Given the description of an element on the screen output the (x, y) to click on. 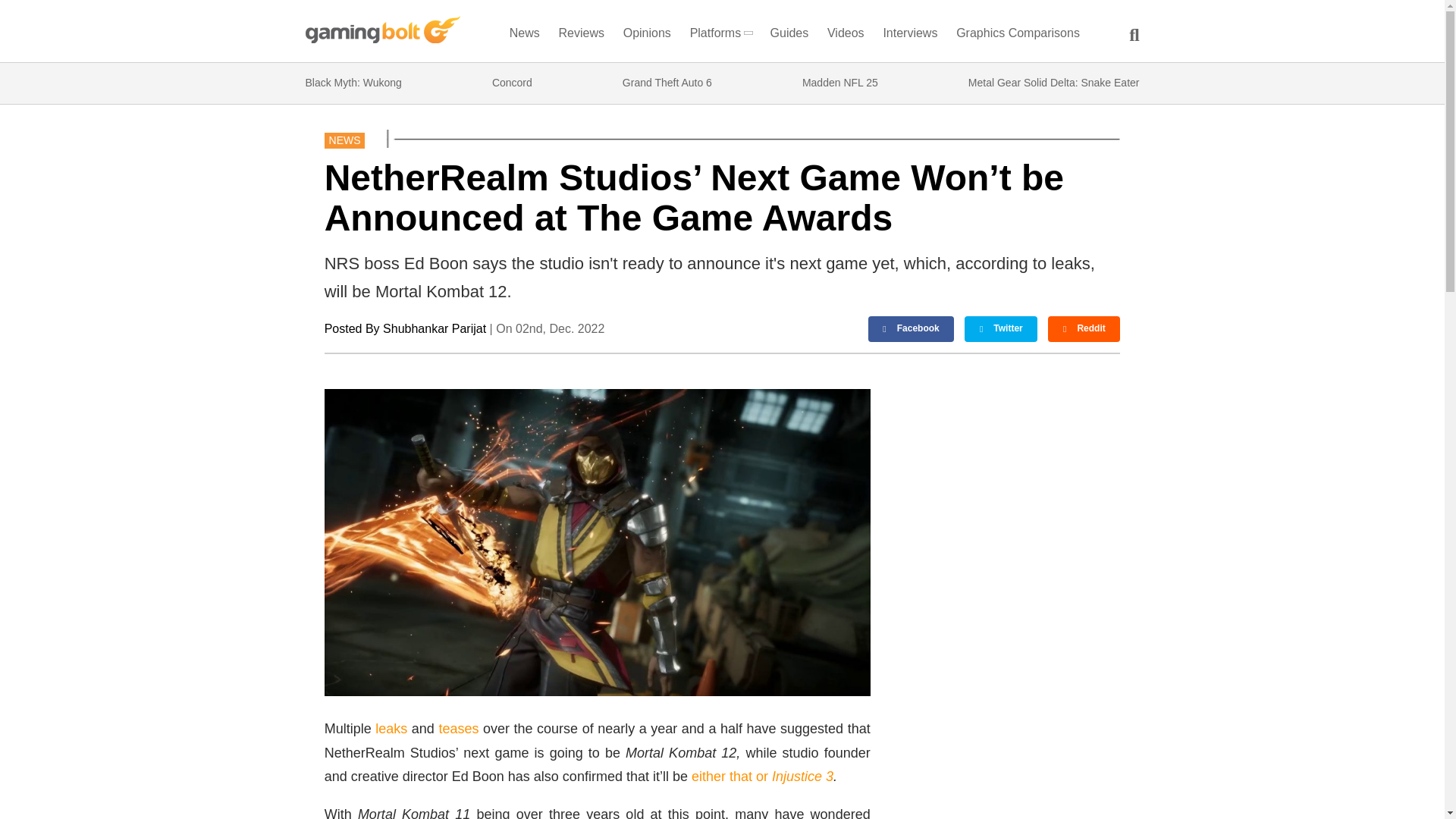
Metal Gear Solid Delta: Snake Eater (1054, 82)
News (524, 36)
Black Myth: Wukong (352, 82)
Shubhankar Parijat (434, 328)
Concord (512, 82)
Platforms (720, 36)
Facebook (911, 329)
leaks (391, 728)
Videos (845, 36)
Reddit (1083, 329)
